Given the description of an element on the screen output the (x, y) to click on. 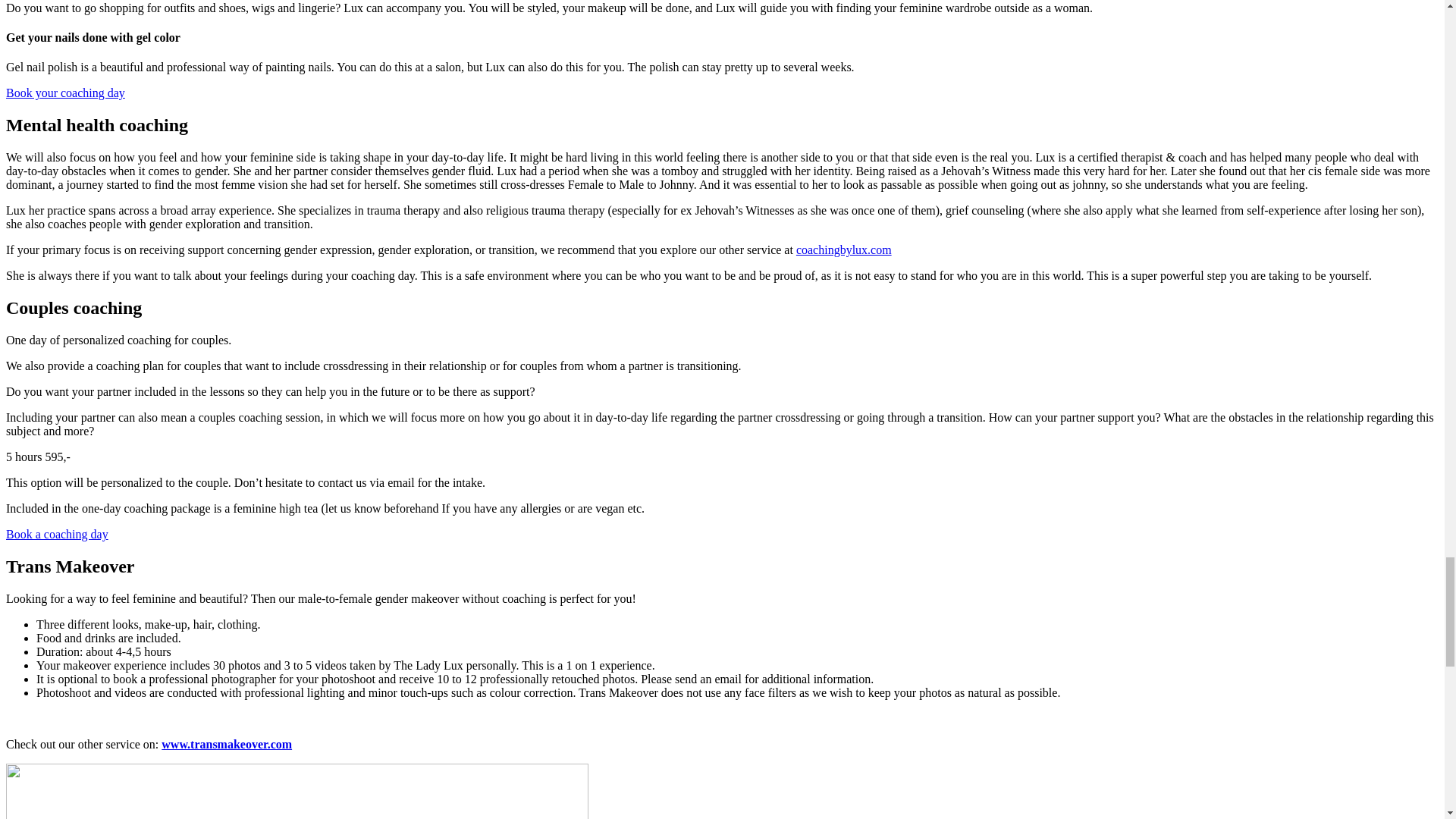
Book your coaching day (65, 92)
Book a coaching day (56, 533)
www.transmakeover.com (226, 744)
coachingbylux.com (843, 249)
